Given the description of an element on the screen output the (x, y) to click on. 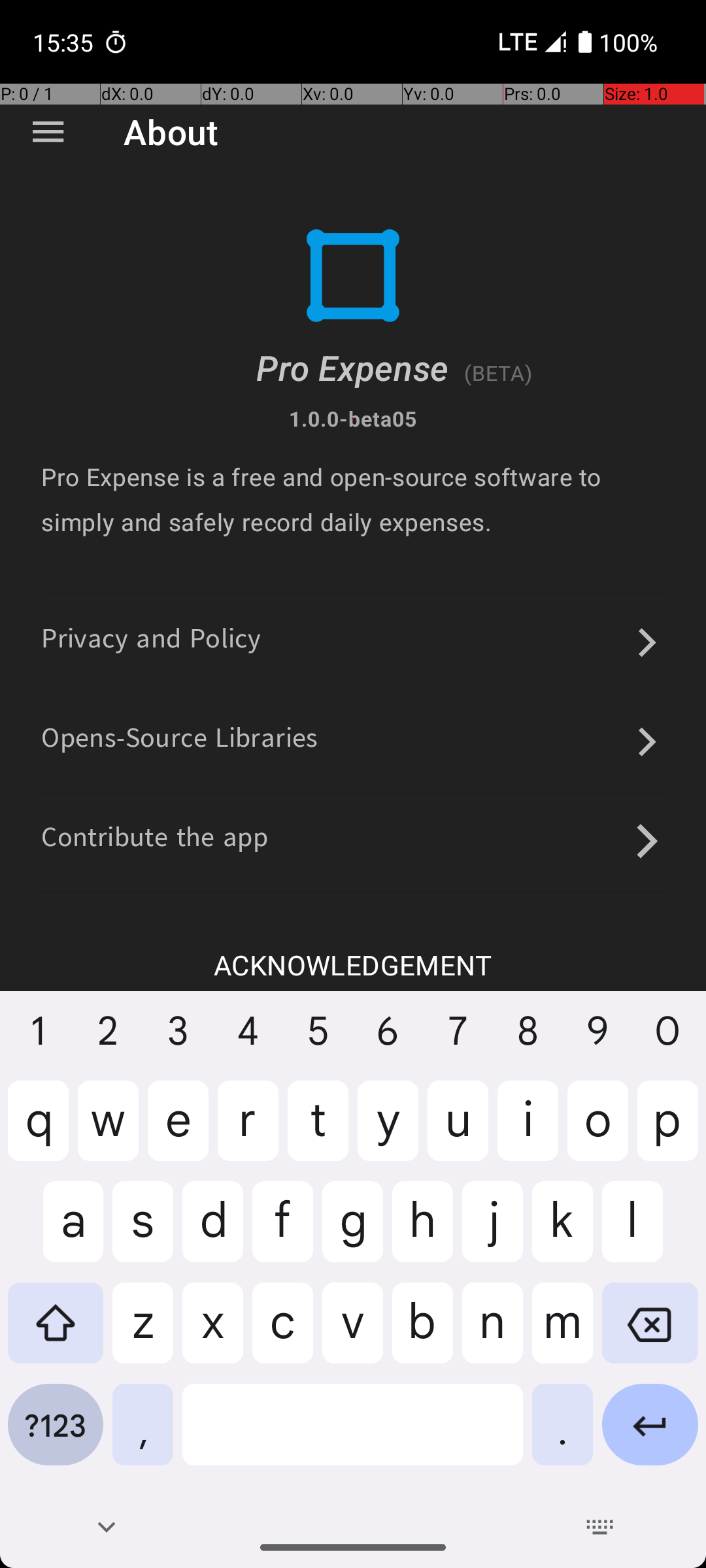
(BETA) Element type: android.widget.TextView (497, 372)
1.0.0-beta05 Element type: android.widget.TextView (352, 418)
Pro Expense is a free and open-source software to simply and safely record daily expenses. Element type: android.widget.TextView (352, 498)
ACKNOWLEDGEMENT Element type: android.widget.TextView (352, 964)
Privacy and Policy Element type: android.widget.TextView (151, 642)
Opens-Source Libraries Element type: android.widget.TextView (179, 741)
Contribute the app Element type: android.widget.TextView (154, 841)
